Given the description of an element on the screen output the (x, y) to click on. 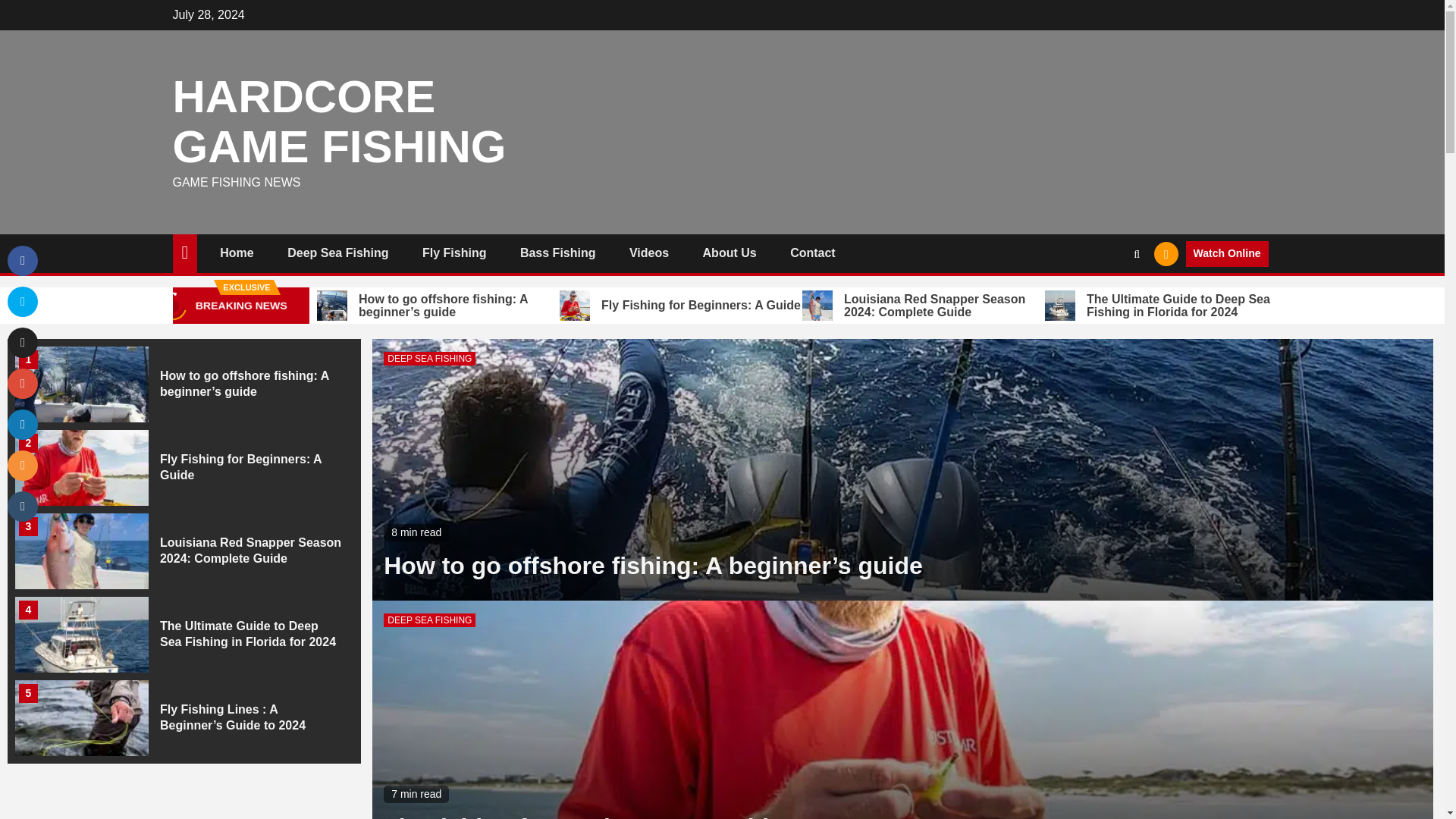
Fly Fishing (454, 252)
HARDCORE GAME FISHING (339, 121)
Louisiana Red Snapper Season 2024: Complete Guide (250, 550)
About Us (730, 252)
Contact (812, 252)
Search (1106, 299)
The Ultimate Guide to Deep Sea Fishing in Florida for 2024 (248, 633)
Fly Fishing for Beginners: A Guide (240, 466)
Louisiana Red Snapper Season 2024: Complete Guide (923, 305)
The Ultimate Guide to Deep Sea Fishing in Florida for 2024 (1166, 305)
Deep Sea Fishing (337, 252)
Bass Fishing (557, 252)
Videos (648, 252)
Home (236, 252)
Fly Fishing for Beginners: A Guide (680, 305)
